Given the description of an element on the screen output the (x, y) to click on. 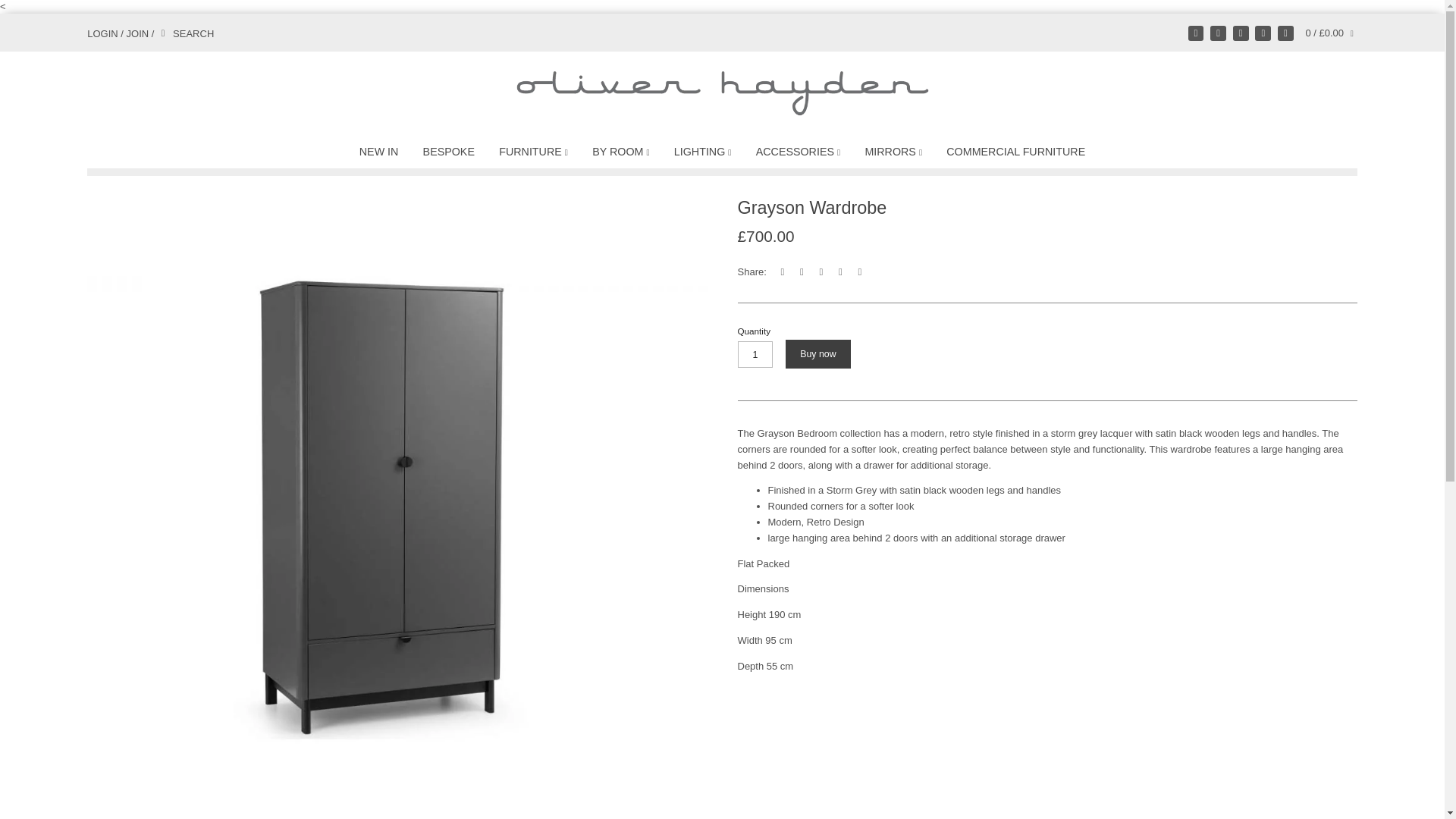
NEW IN (378, 154)
1 (754, 354)
Instagram (1241, 33)
Share using email (859, 271)
Share on Facebook (782, 271)
Twitter (1196, 33)
LIGHTING (701, 154)
Pinterest (1263, 33)
Pin the main product image (821, 271)
